Given the description of an element on the screen output the (x, y) to click on. 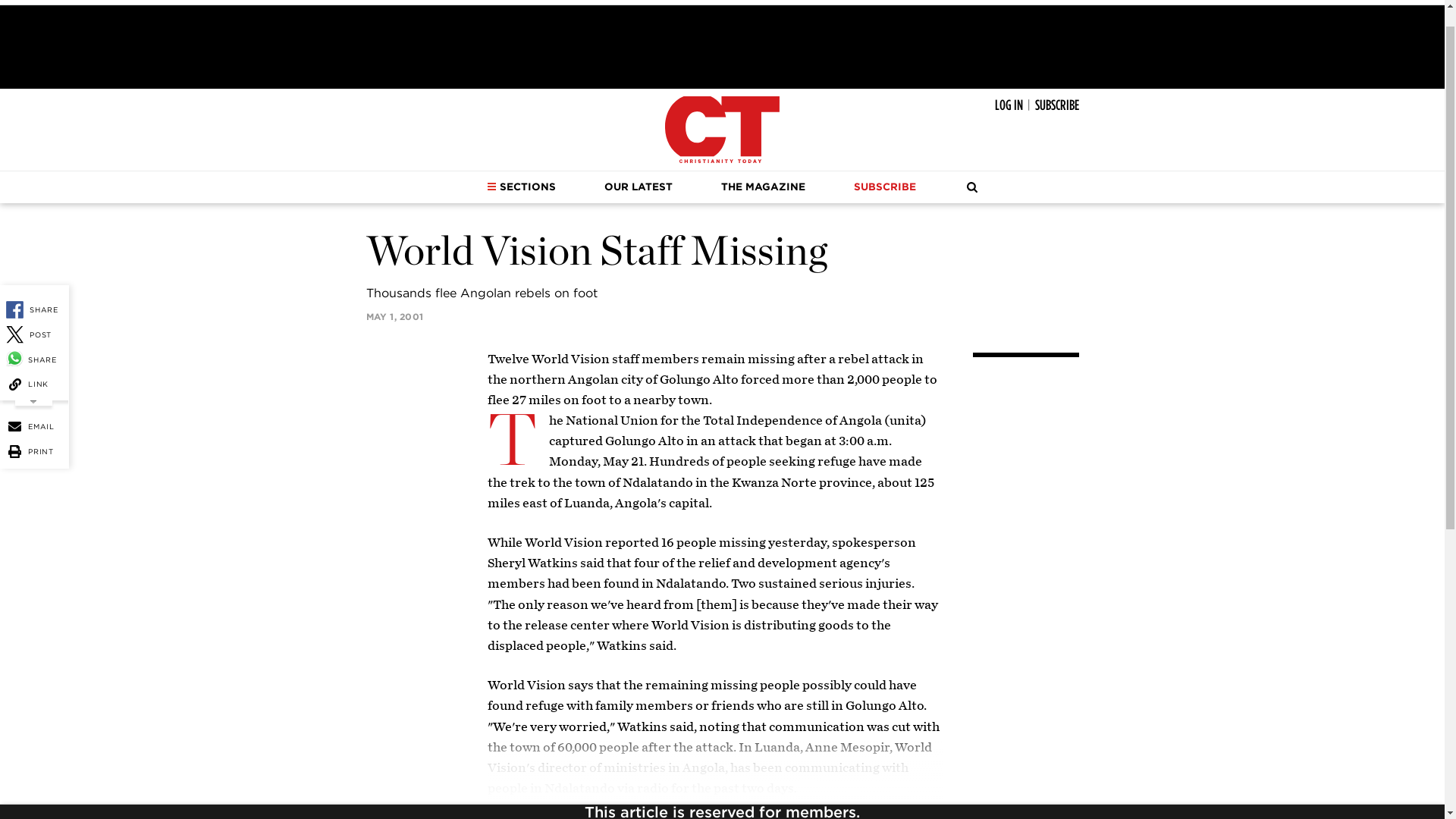
GIVE NOW (355, 2)
LOG IN (1008, 105)
Sections Dropdown (491, 186)
SECTIONS (521, 187)
Christianity Today (721, 129)
SUBSCRIBE (1055, 105)
ABOUT US (202, 2)
NEWSLETTERS (278, 2)
3rd party ad content (721, 47)
